Given the description of an element on the screen output the (x, y) to click on. 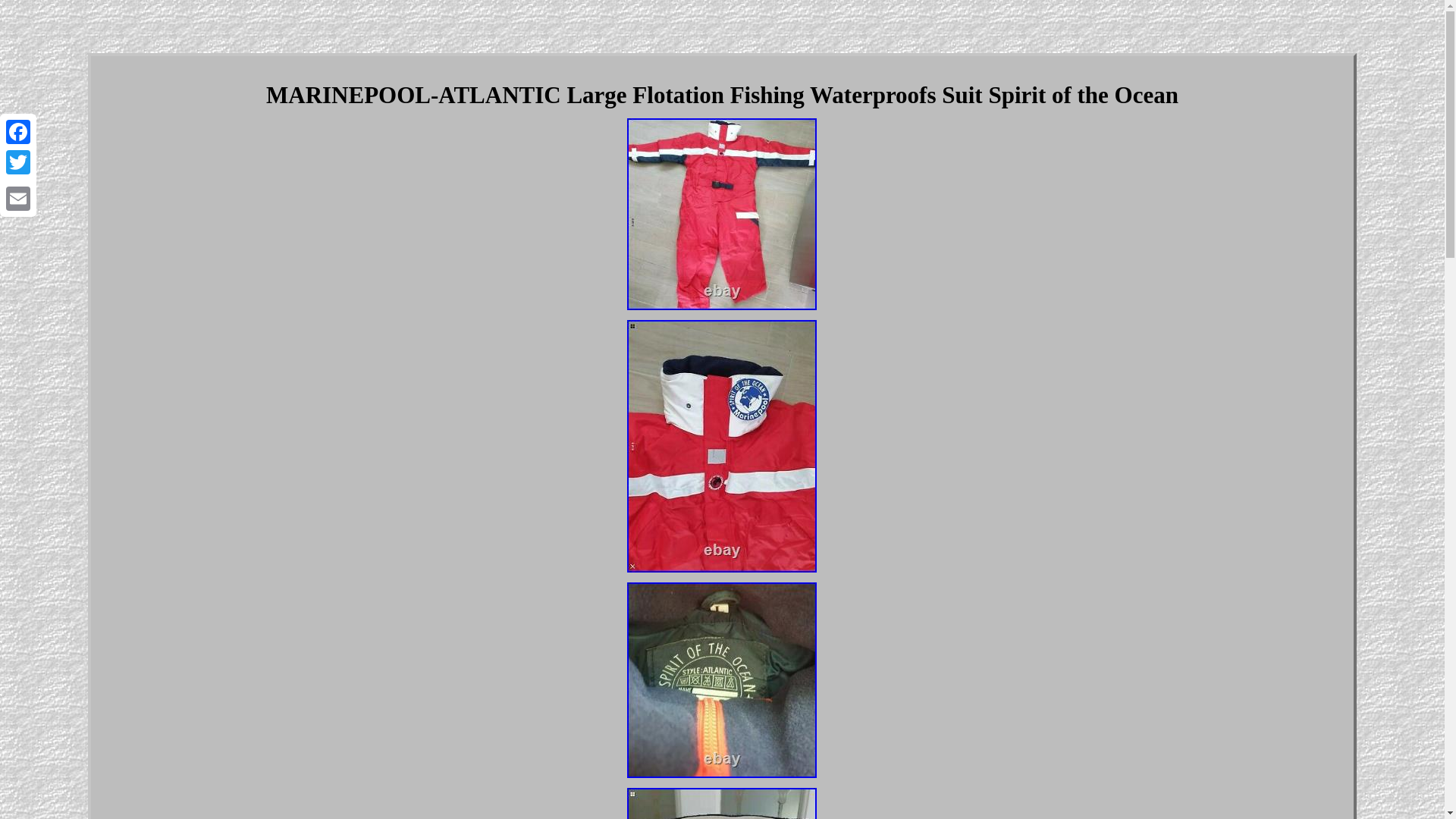
Twitter (17, 162)
Facebook (17, 132)
Email (17, 198)
